Given the description of an element on the screen output the (x, y) to click on. 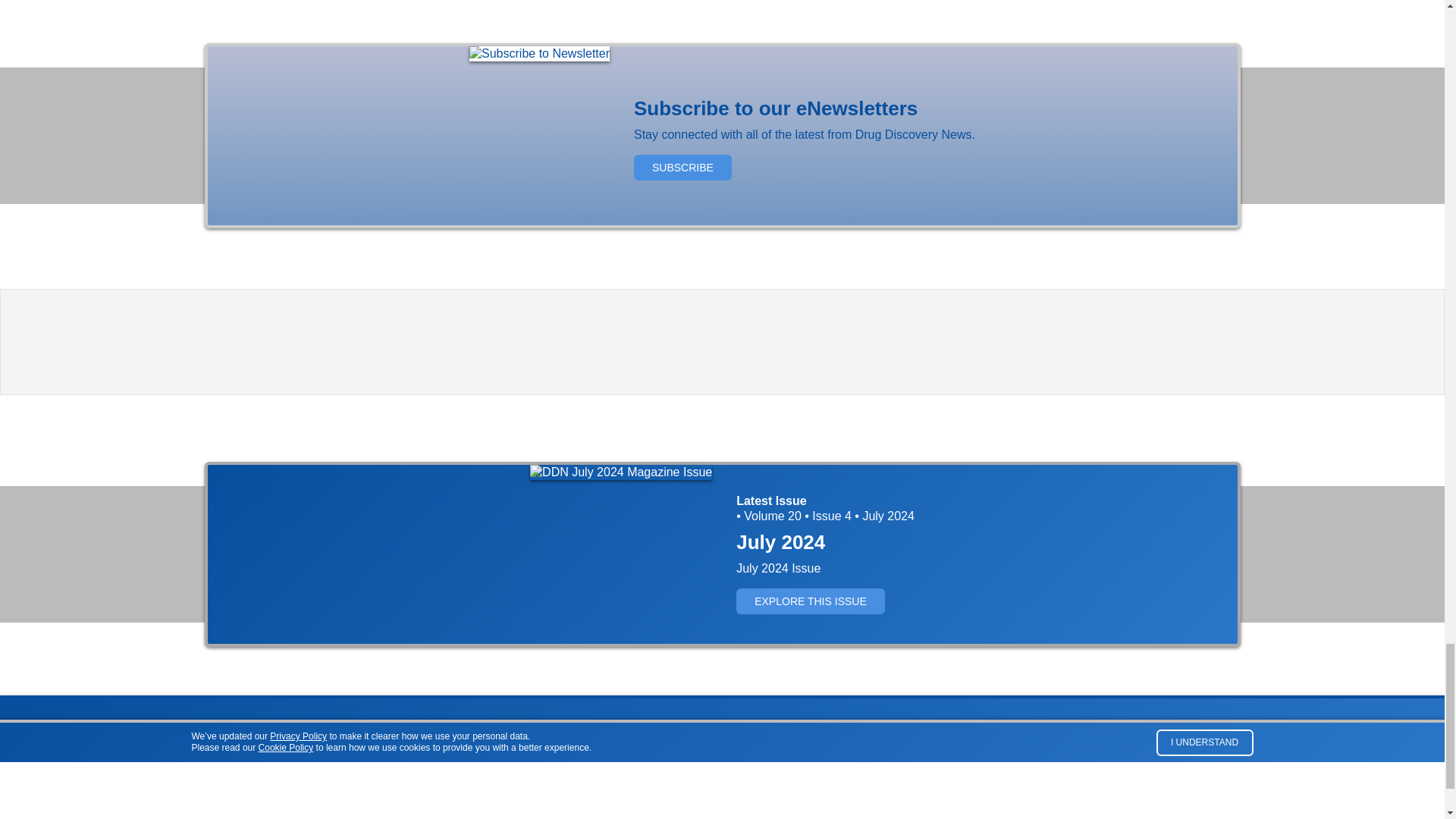
Facebook (1186, 752)
LinkedIn (1240, 752)
Subscribe to Newsletter (539, 53)
Twitter (1213, 752)
